Given the description of an element on the screen output the (x, y) to click on. 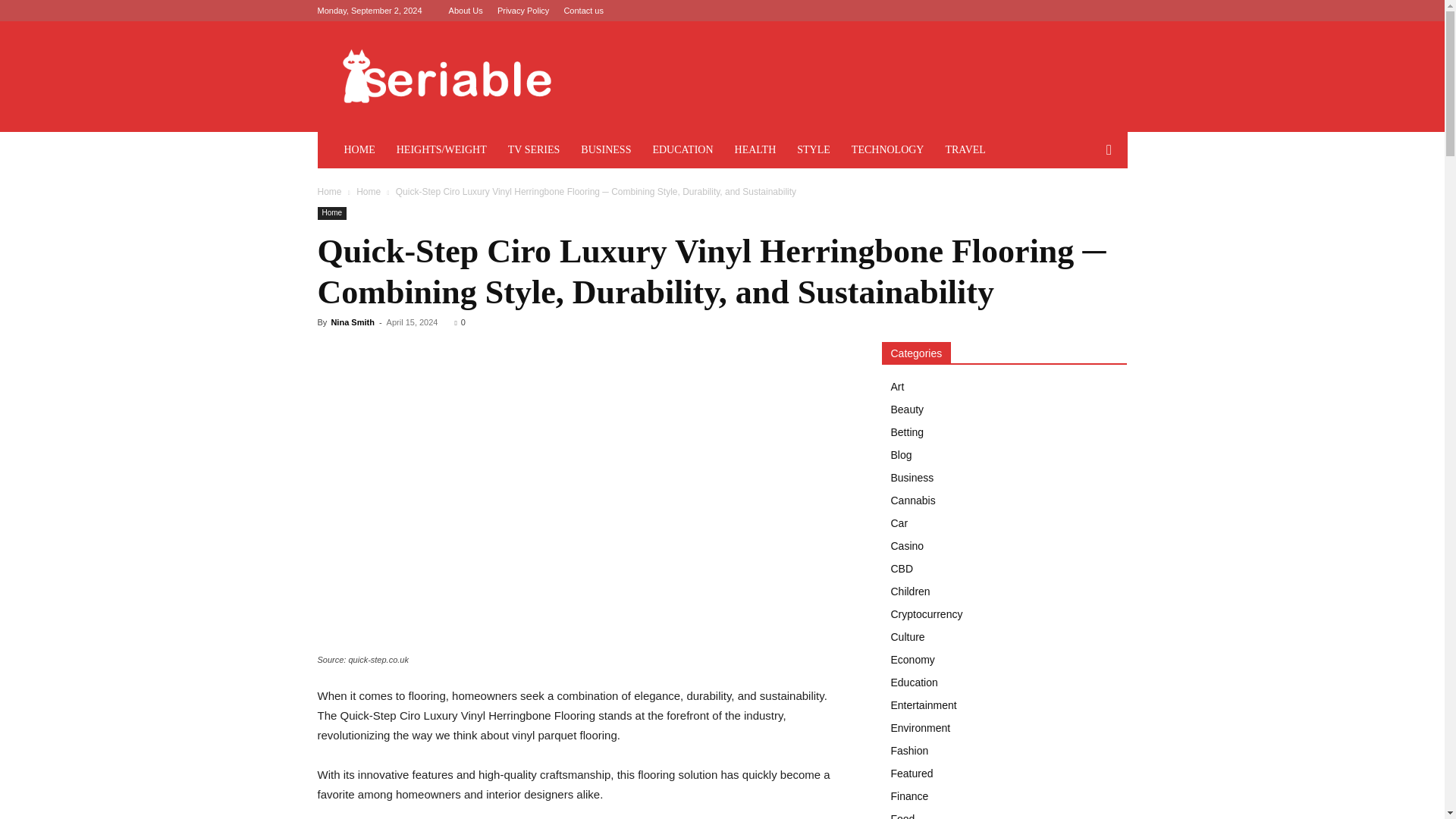
HOME (359, 149)
STYLE (813, 149)
HEALTH (755, 149)
Privacy Policy (522, 10)
BUSINESS (606, 149)
TECHNOLOGY (887, 149)
EDUCATION (682, 149)
TRAVEL (964, 149)
TV SERIES (533, 149)
